Given the description of an element on the screen output the (x, y) to click on. 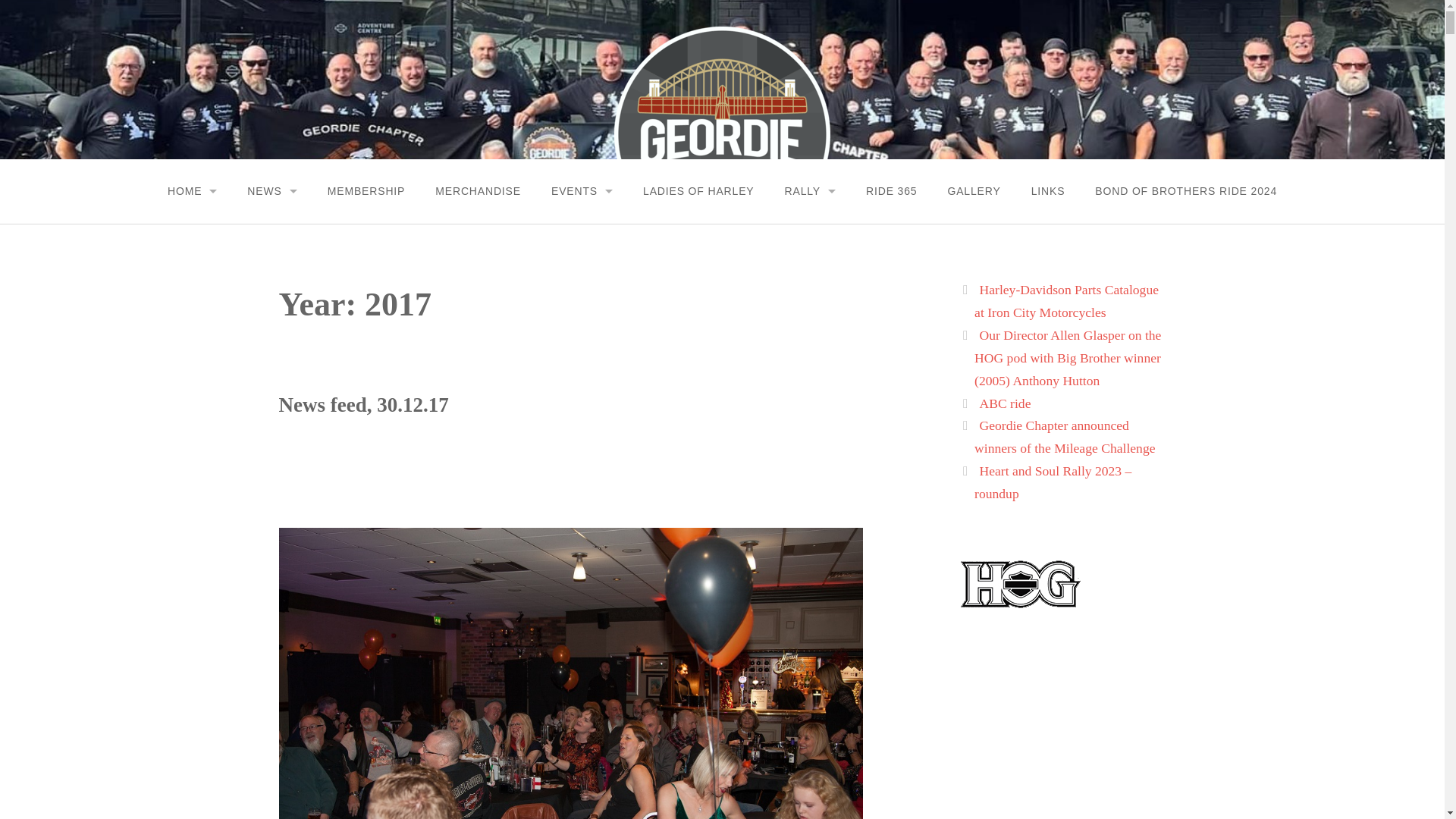
MERCHANDISE (477, 190)
MEMBERSHIP (366, 190)
EVENTS CALENDAR (582, 229)
CHAPTER RIDE-OUTS (582, 290)
HOME (191, 190)
NORTH EAST COALITION OF MOTORCYCLE CLUBS (582, 350)
NEWS (271, 190)
TICKETS (810, 229)
CHAPTER MEETINGS (582, 259)
LOCATION (810, 259)
CHAPTER CHARTER (191, 290)
COMMITTEE (191, 259)
LADIES OF HARLEY (697, 190)
MESSAGE FROM OUR DIRECTOR (191, 229)
RALLY (809, 190)
